Given the description of an element on the screen output the (x, y) to click on. 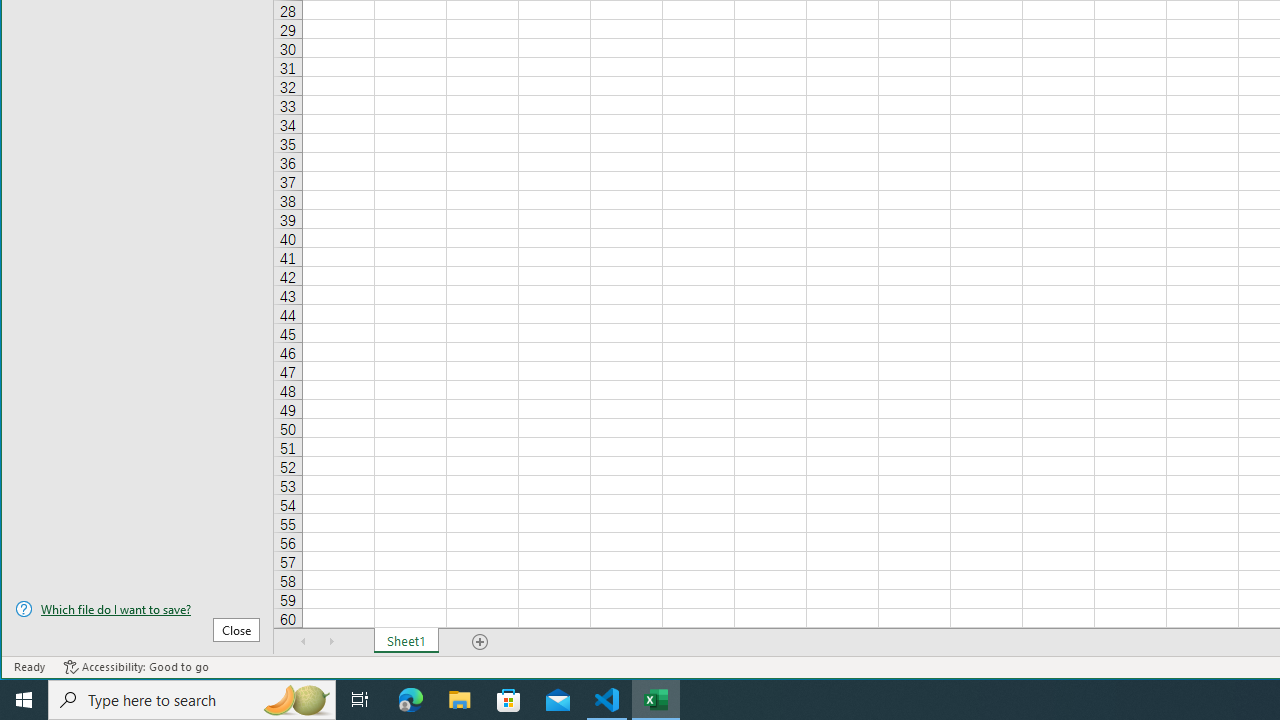
Microsoft Edge (411, 699)
Visual Studio Code - 1 running window (607, 699)
Microsoft Store (509, 699)
Search highlights icon opens search home window (295, 699)
Start (24, 699)
File Explorer (460, 699)
Type here to search (191, 699)
